Given the description of an element on the screen output the (x, y) to click on. 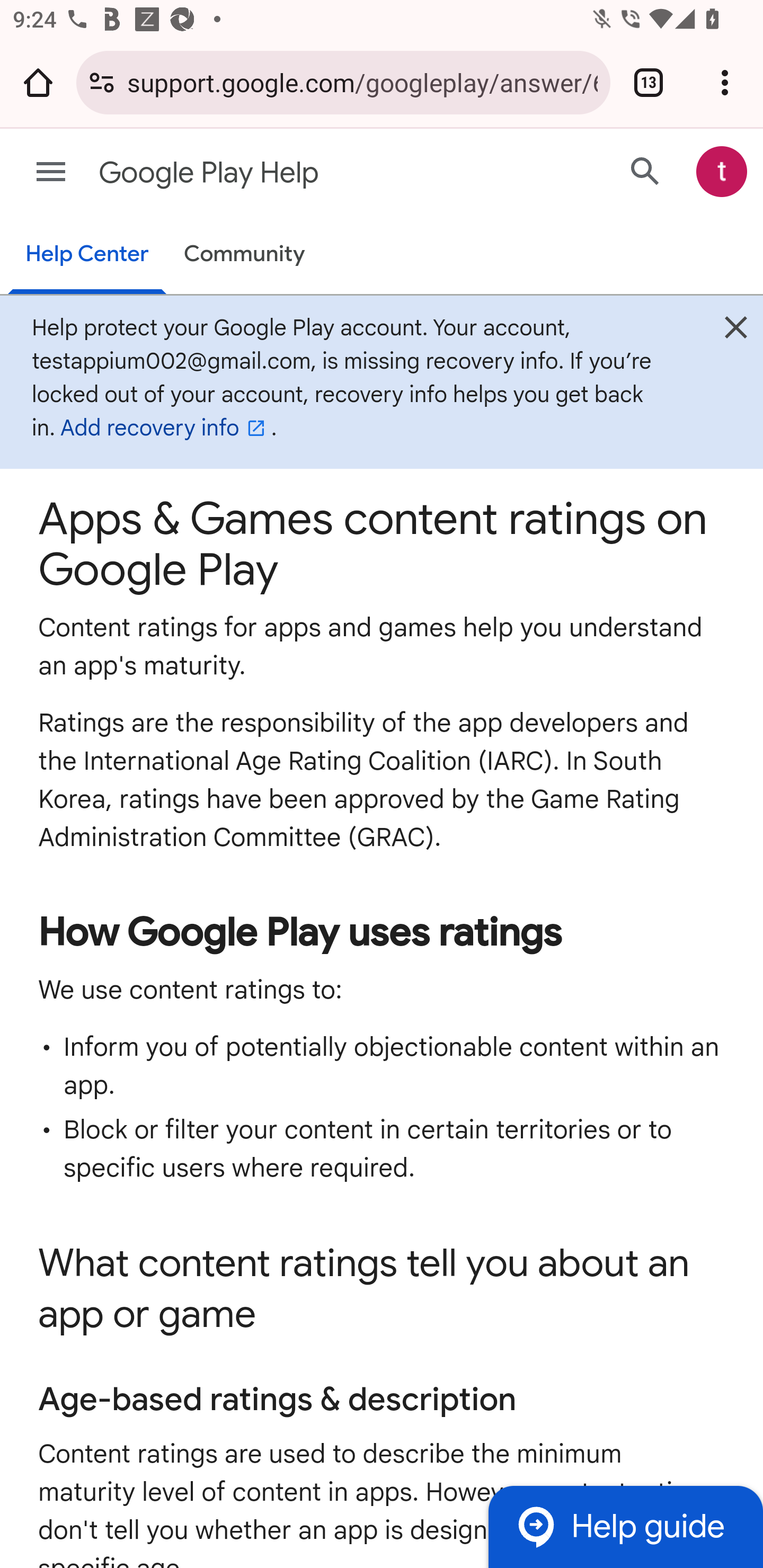
Open the home page (38, 82)
Connection is secure (101, 82)
Switch or close tabs (648, 82)
Customize and control Google Chrome (724, 82)
Main menu (50, 171)
Google Play Help (311, 173)
Search Help Center (645, 171)
Help Center (86, 255)
Community (243, 253)
Close (736, 331)
Add recovery info (164, 428)
Help guide (625, 1527)
